Given the description of an element on the screen output the (x, y) to click on. 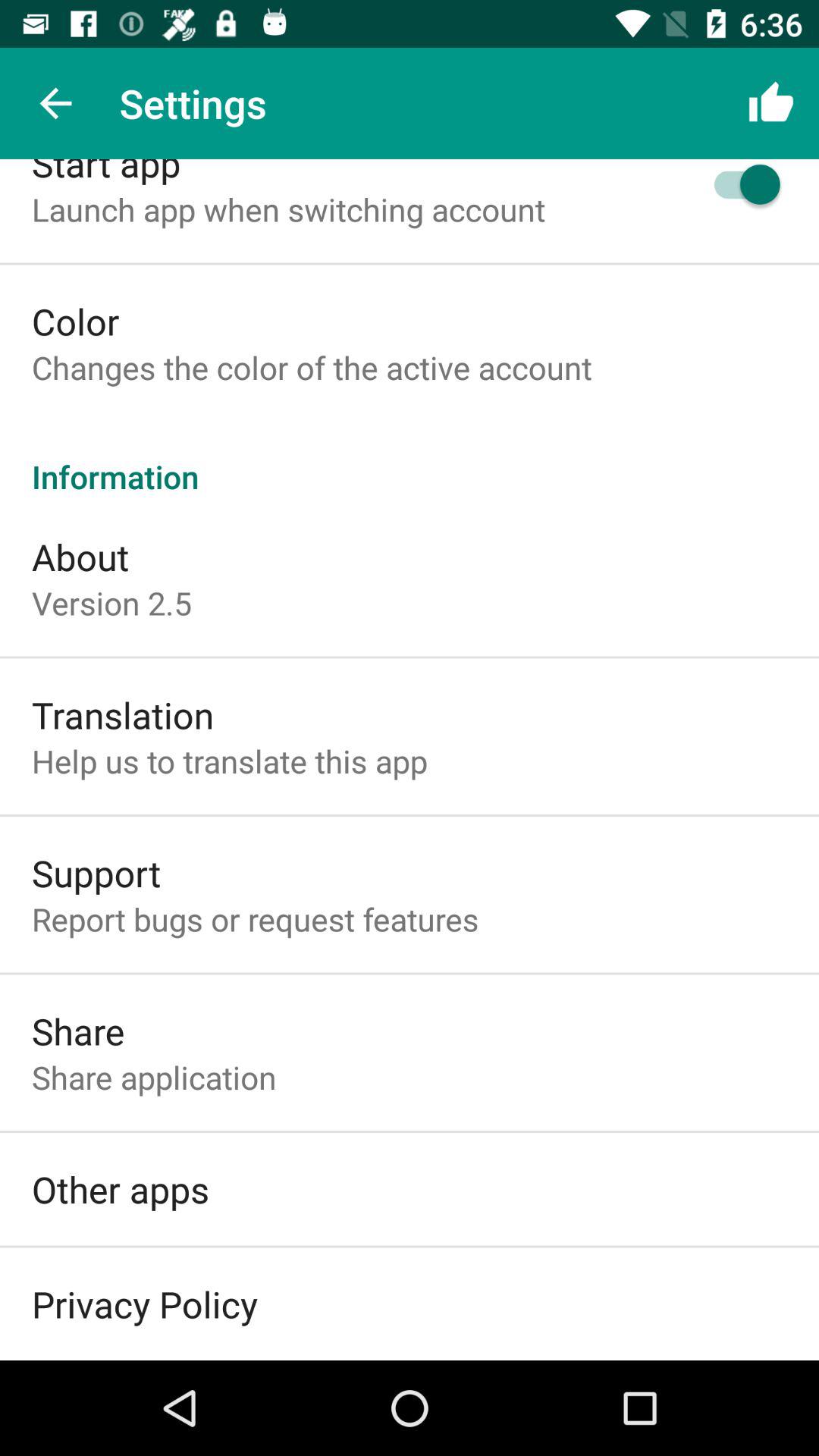
flip until the translation item (122, 714)
